Given the description of an element on the screen output the (x, y) to click on. 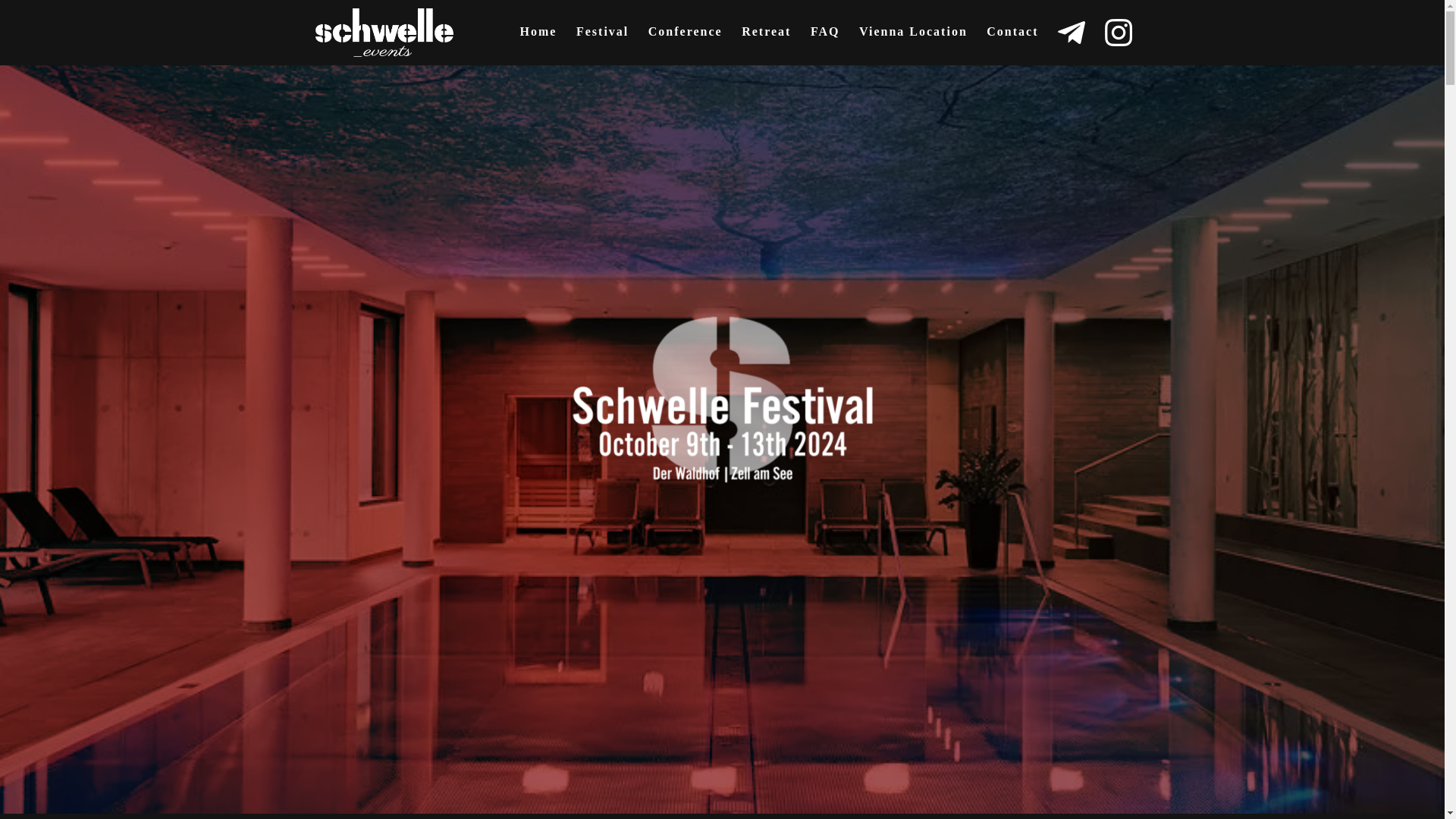
Conference (684, 41)
FAQ (825, 41)
Home (538, 41)
Vienna Location (913, 41)
Retreat (765, 41)
Contact (1012, 41)
Festival (602, 41)
